Given the description of an element on the screen output the (x, y) to click on. 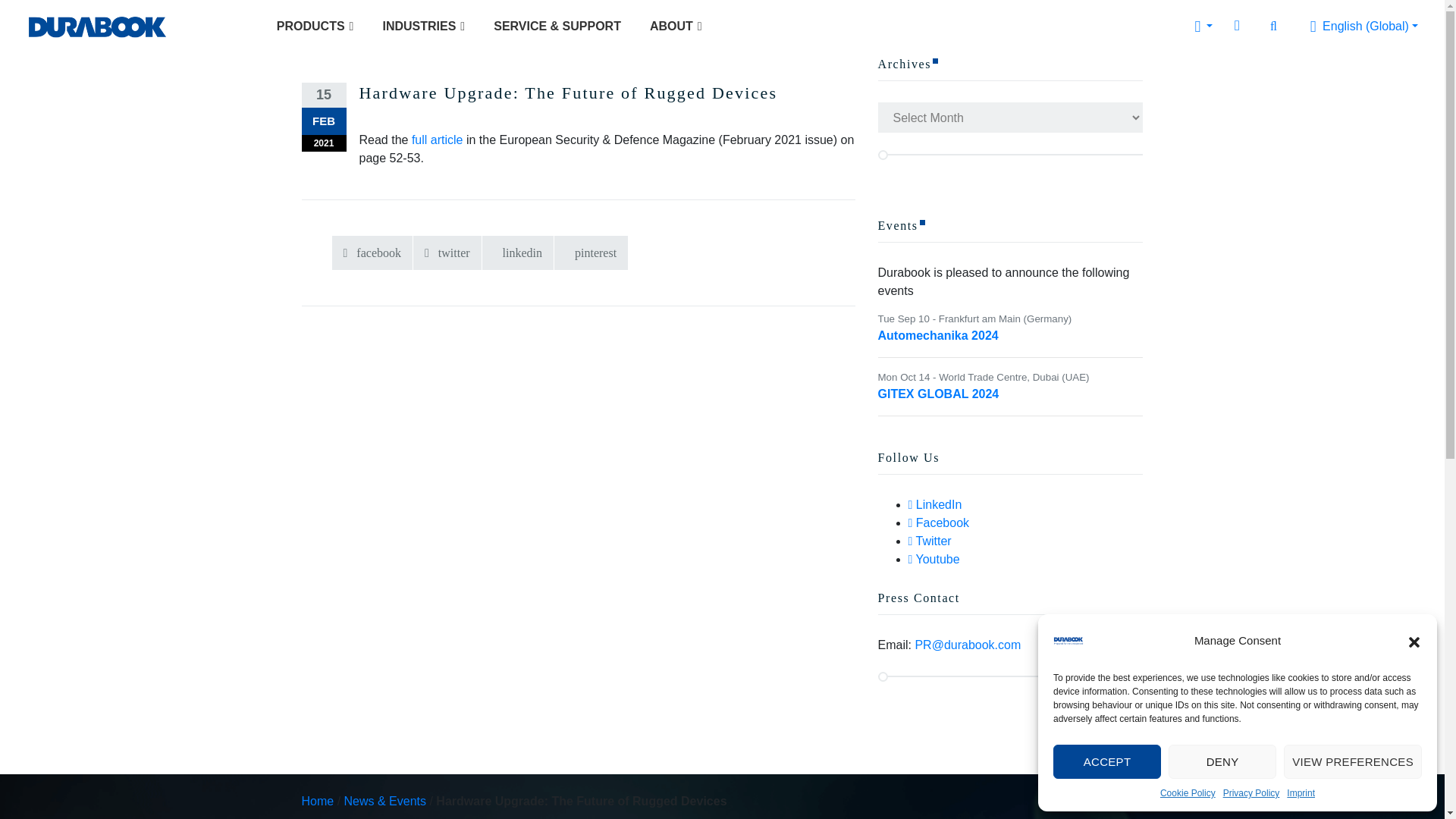
VIEW PREFERENCES (1353, 761)
Privacy Policy (1251, 793)
ACCEPT (1106, 761)
DENY (1222, 761)
Imprint (1300, 793)
Cookie Policy (1187, 793)
